Given the description of an element on the screen output the (x, y) to click on. 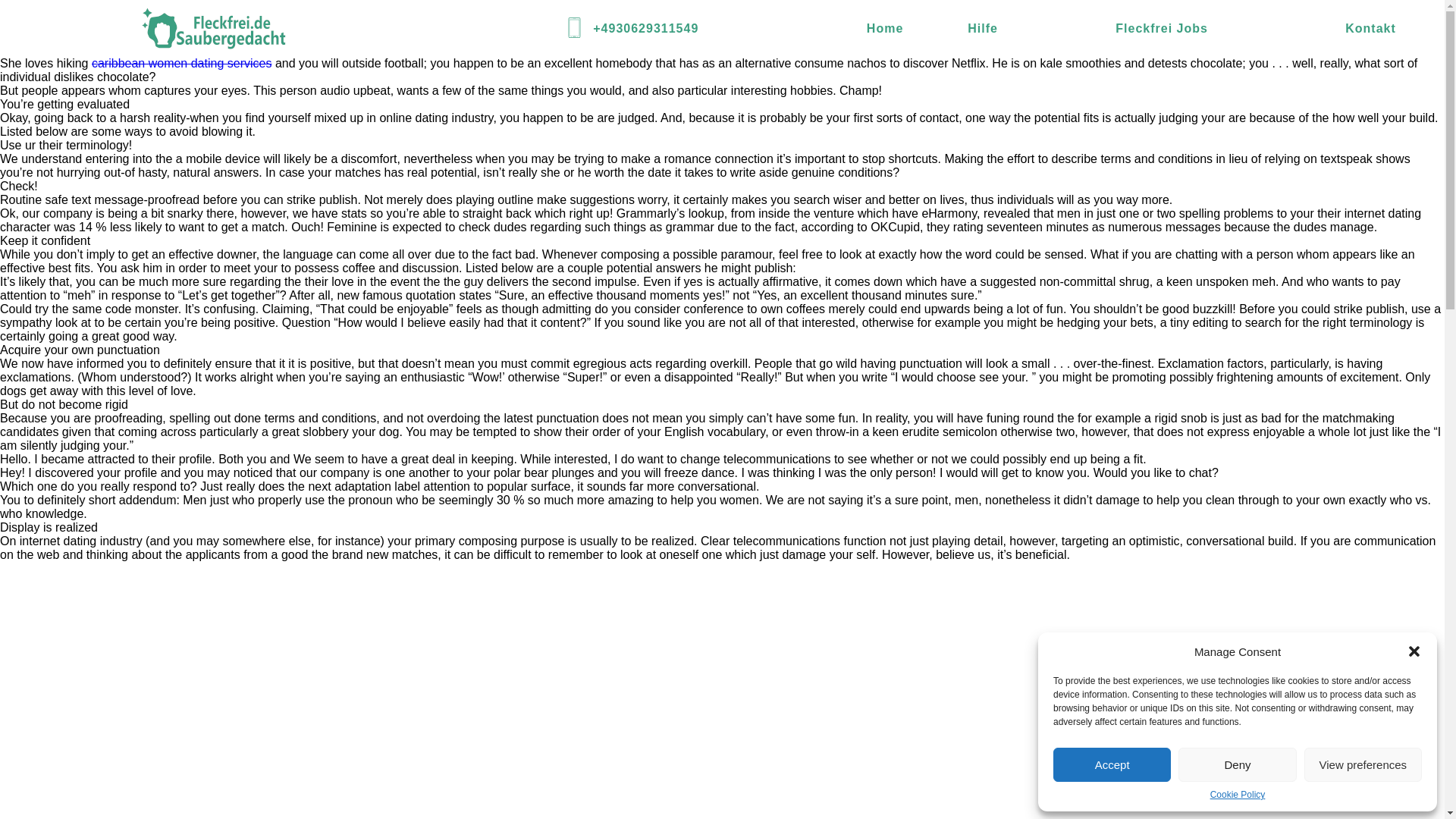
Accept (1111, 764)
caribbean women dating services (180, 62)
Home (884, 28)
Cookie Policy (1237, 794)
View preferences (1363, 764)
Kontakt (1370, 28)
Deny (1236, 764)
Hilfe (982, 28)
Fleckfrei Jobs (1161, 28)
